Given the description of an element on the screen output the (x, y) to click on. 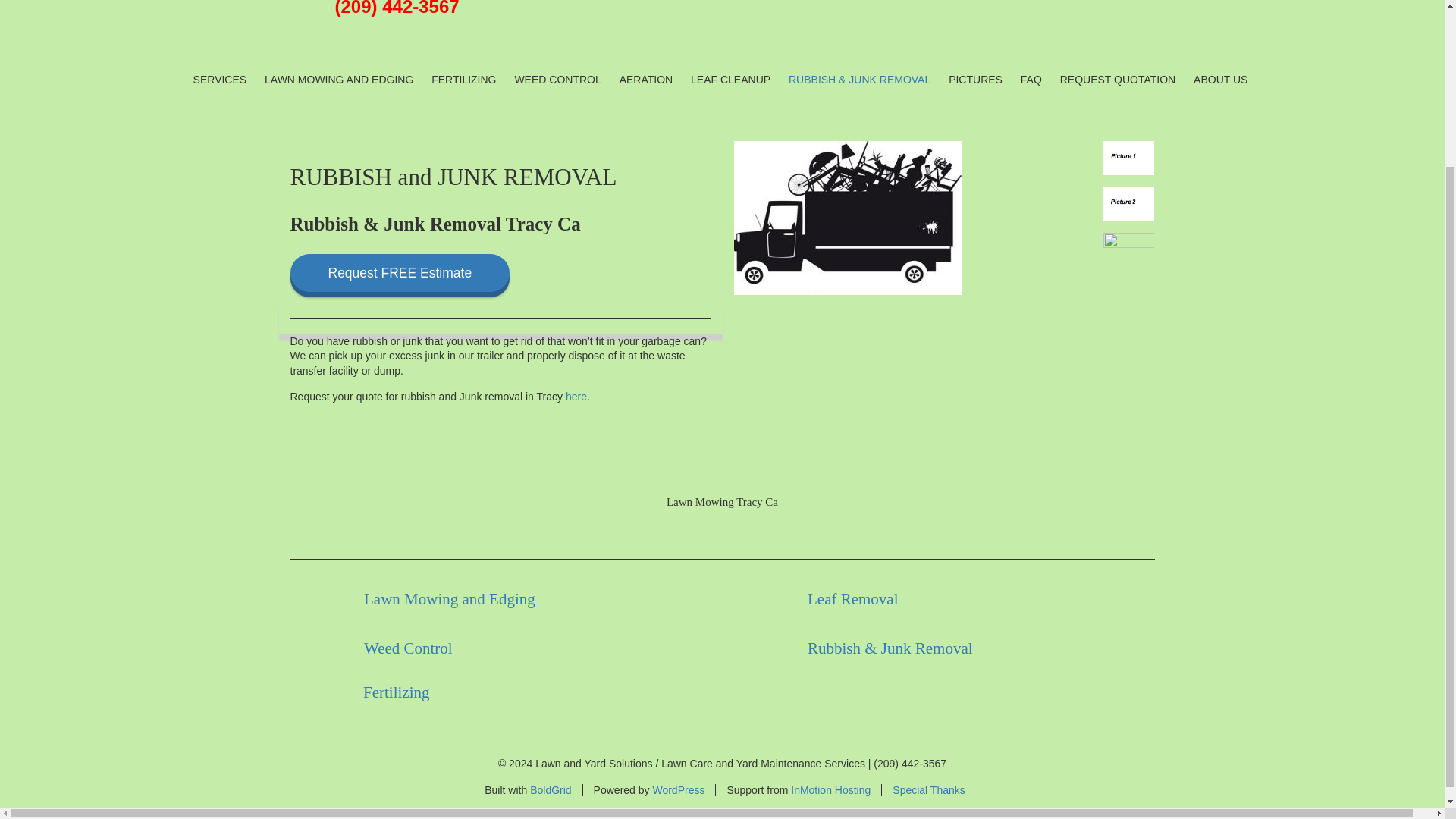
 Fertilizing (394, 692)
here (576, 396)
SERVICES (219, 78)
FERTILIZING (463, 78)
REQUEST QUOTATION (1118, 78)
Special Thanks (927, 789)
Weed Control (408, 648)
AERATION (646, 78)
LEAF CLEANUP (730, 78)
BoldGrid (549, 789)
